Given the description of an element on the screen output the (x, y) to click on. 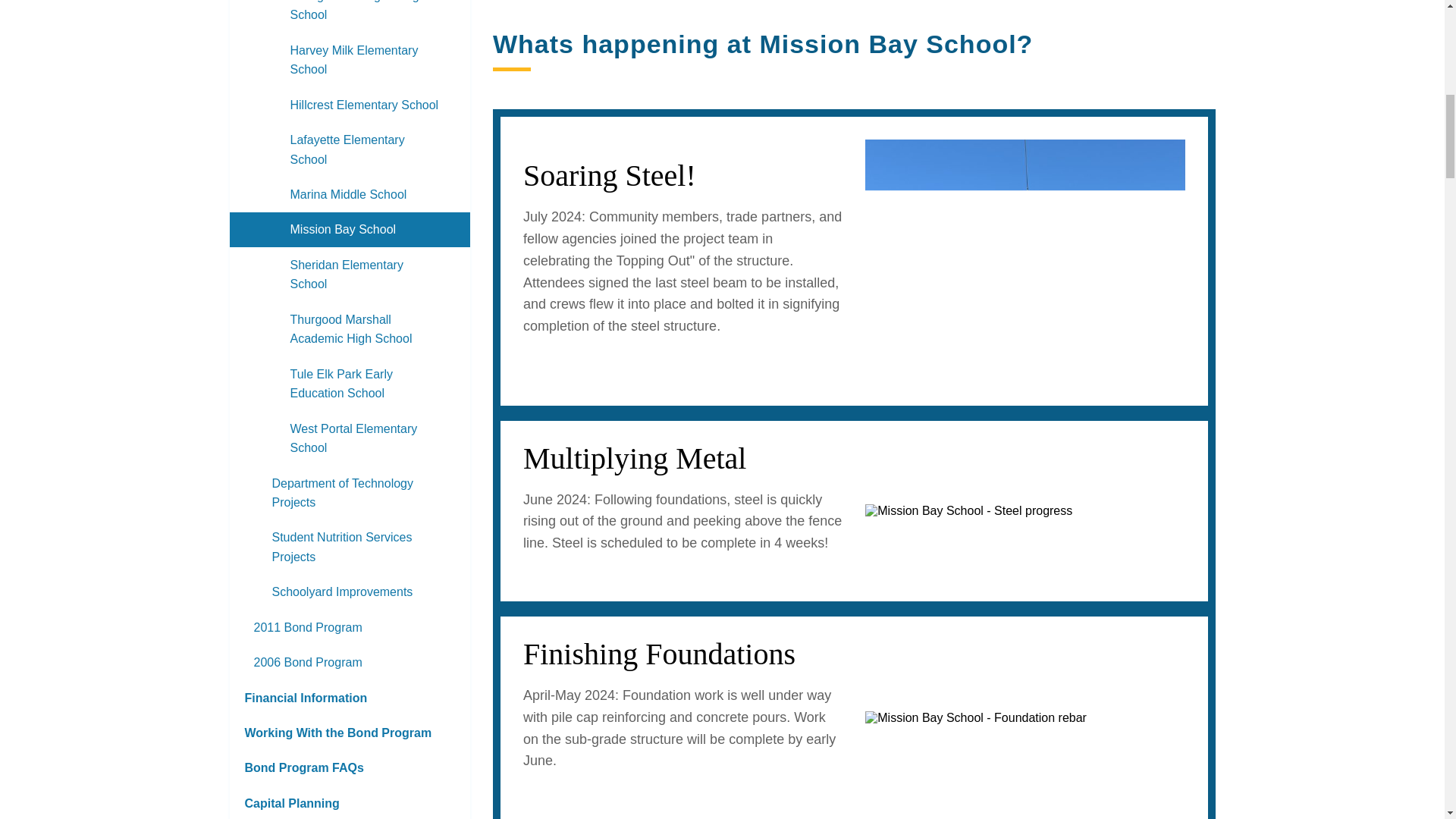
Harvey Milk Elementary School Modernization (349, 59)
George Washington High School - Seismic Improvement Project (349, 16)
